Given the description of an element on the screen output the (x, y) to click on. 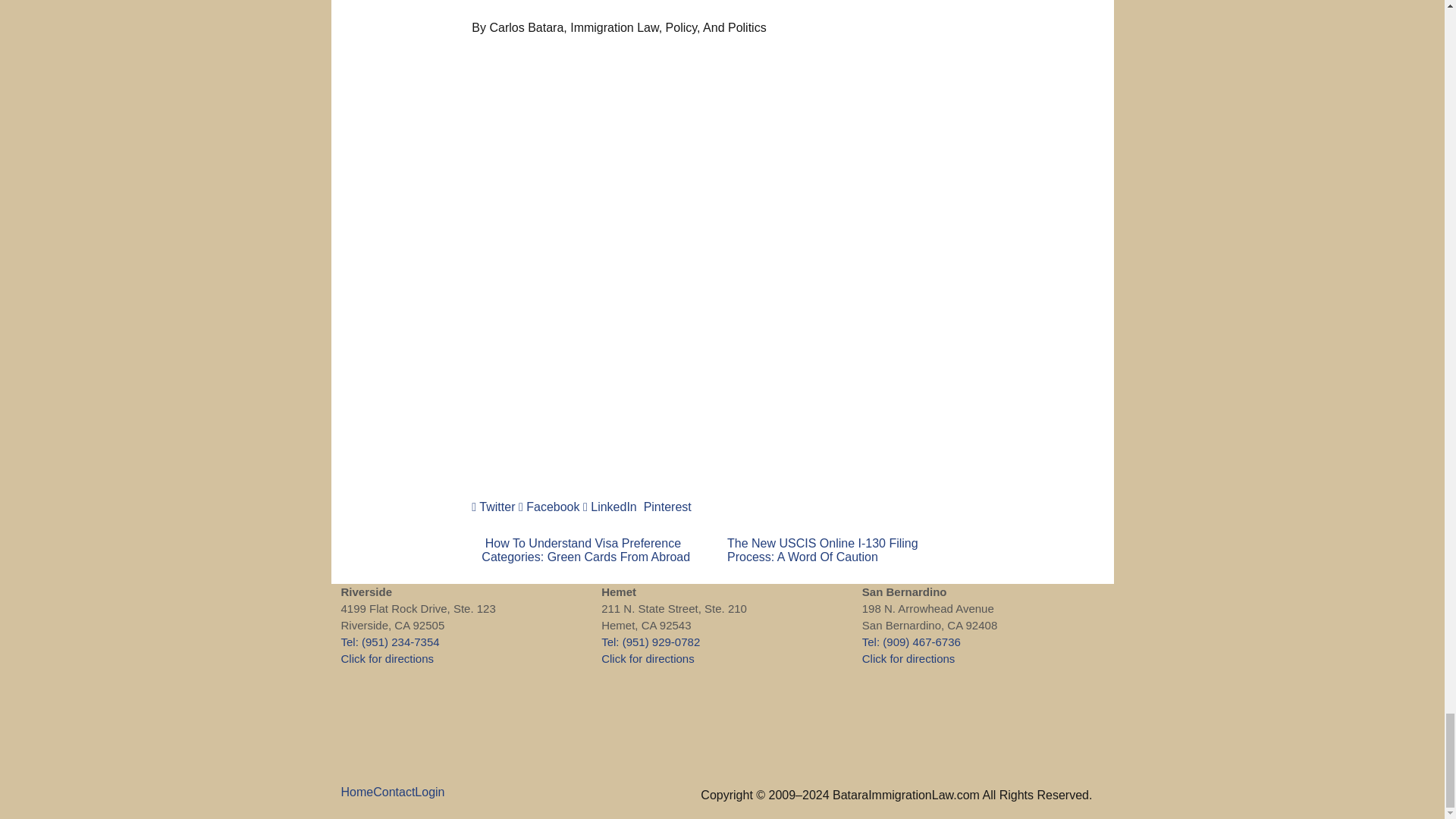
 Facebook (548, 506)
 LinkedIn (610, 506)
 Pinterest (665, 506)
 Twitter (493, 506)
Twitter (493, 506)
